Given the description of an element on the screen output the (x, y) to click on. 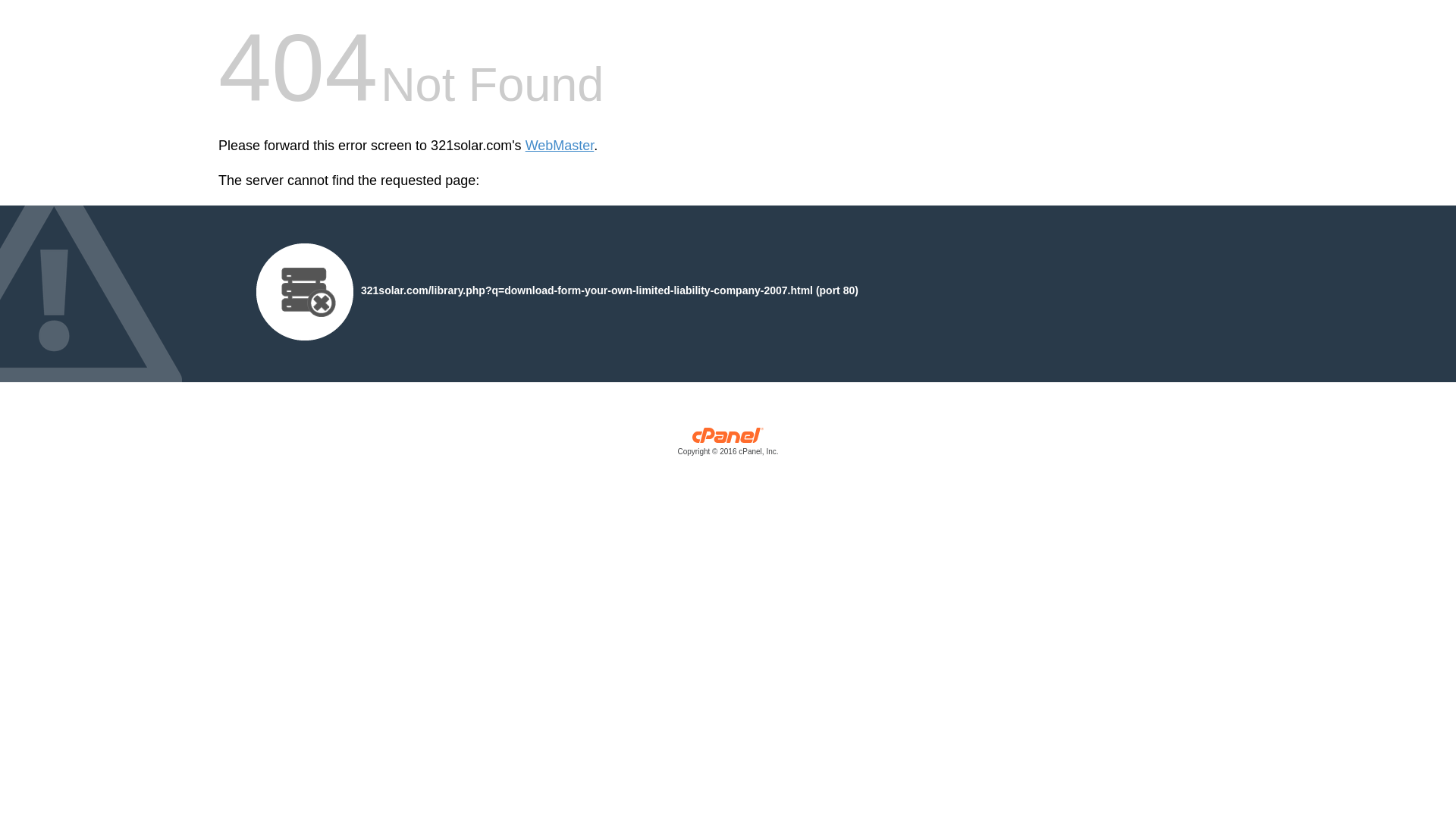
WebMaster Element type: text (559, 145)
